Given the description of an element on the screen output the (x, y) to click on. 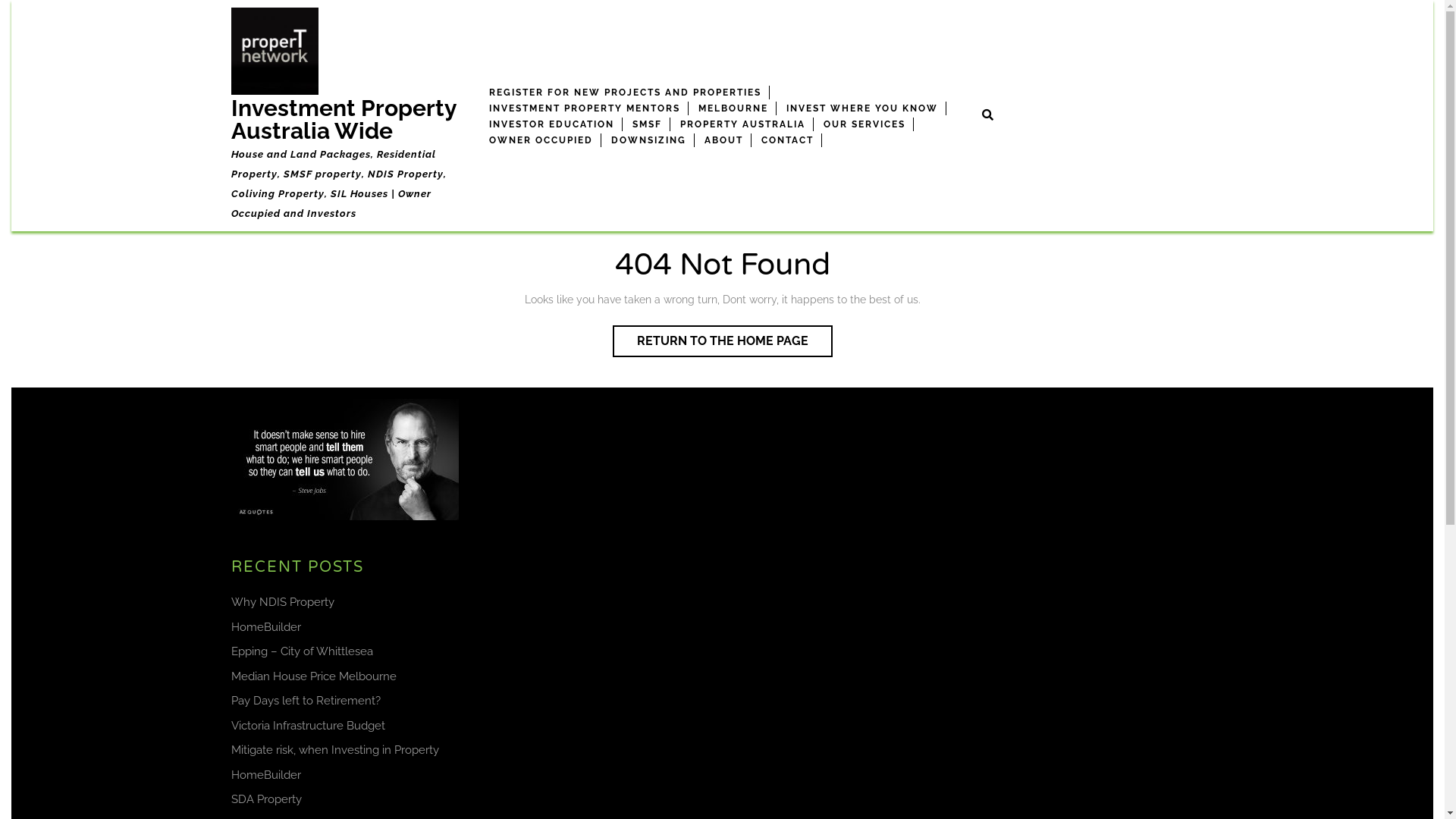
Investment Property Australia Wide Element type: text (342, 119)
Victoria Infrastructure Budget Element type: text (307, 725)
INVESTMENT PROPERTY MENTORS Element type: text (583, 108)
HomeBuilder Element type: text (265, 626)
CONTACT Element type: text (787, 140)
Median House Price Melbourne Element type: text (312, 675)
ABOUT Element type: text (723, 140)
Mitigate risk, when Investing in Property Element type: text (334, 749)
OWNER OCCUPIED Element type: text (540, 140)
Why NDIS Property Element type: text (281, 601)
Pay Days left to Retirement? Element type: text (304, 700)
MELBOURNE Element type: text (732, 108)
INVESTOR EDUCATION Element type: text (550, 123)
PROPERTY AUSTRALIA Element type: text (741, 123)
DOWNSIZING Element type: text (648, 140)
INVEST WHERE YOU KNOW Element type: text (861, 108)
SDA Property Element type: text (265, 799)
RETURN TO THE HOME PAGE
RETURN TO THE HOME PAGE Element type: text (722, 341)
OUR SERVICES Element type: text (864, 123)
HomeBuilder Element type: text (265, 774)
SMSF Element type: text (647, 123)
REGISTER FOR NEW PROJECTS AND PROPERTIES Element type: text (624, 91)
